Given the description of an element on the screen output the (x, y) to click on. 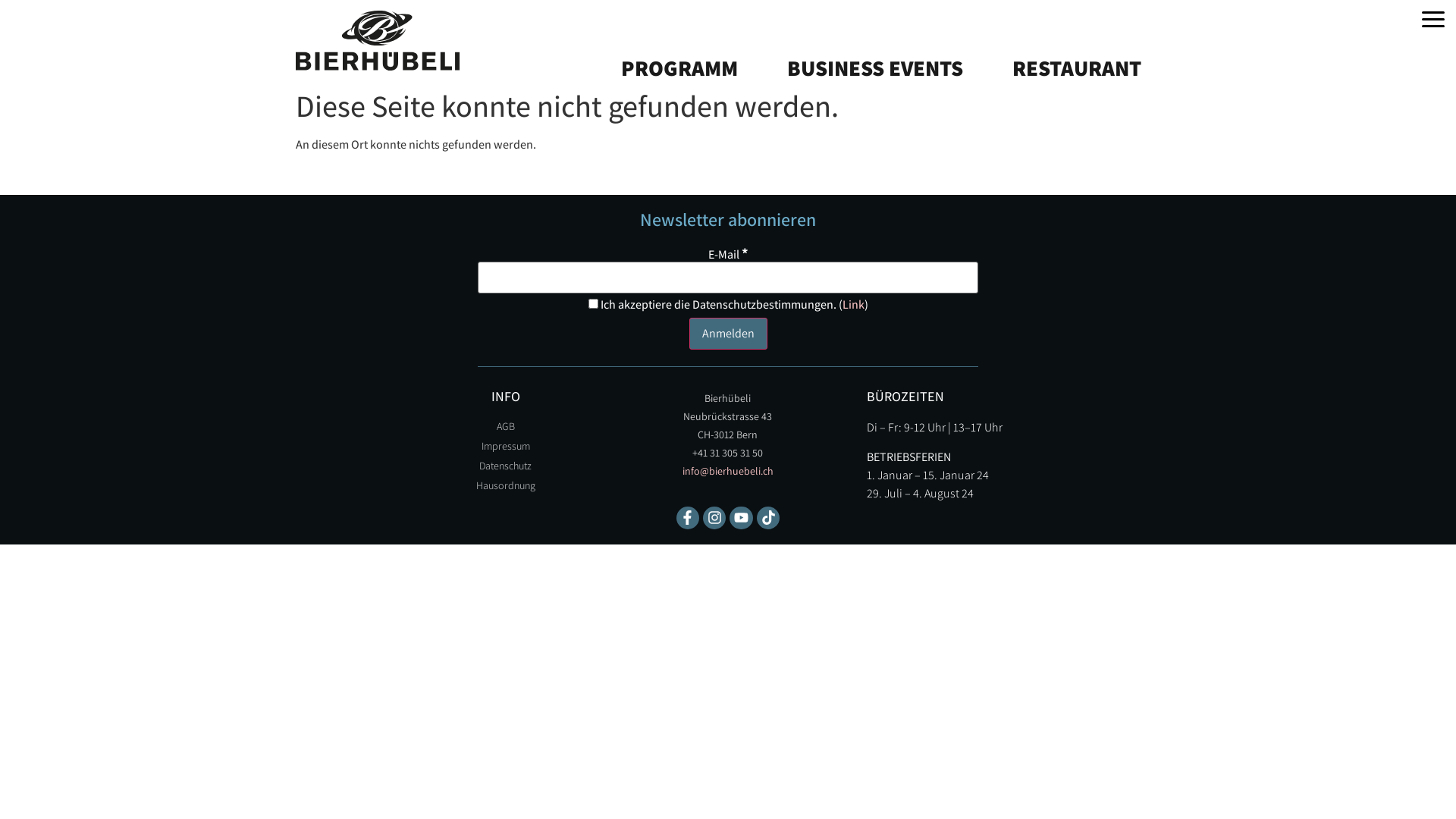
Link Element type: text (852, 304)
RESTAURANT Element type: text (1071, 33)
Datenschutz Element type: text (505, 465)
AGB Element type: text (505, 426)
info@bierhuebeli.ch Element type: text (727, 470)
RESTAURANT Element type: text (1071, 68)
PROGRAMM Element type: text (673, 68)
BUSINESS EVENTS Element type: text (869, 68)
Anmelden Element type: text (727, 333)
BUSINESS EVENTS Element type: text (869, 33)
Hausordnung Element type: text (505, 485)
Impressum Element type: text (505, 446)
PROGRAMM Element type: text (673, 33)
